Given the description of an element on the screen output the (x, y) to click on. 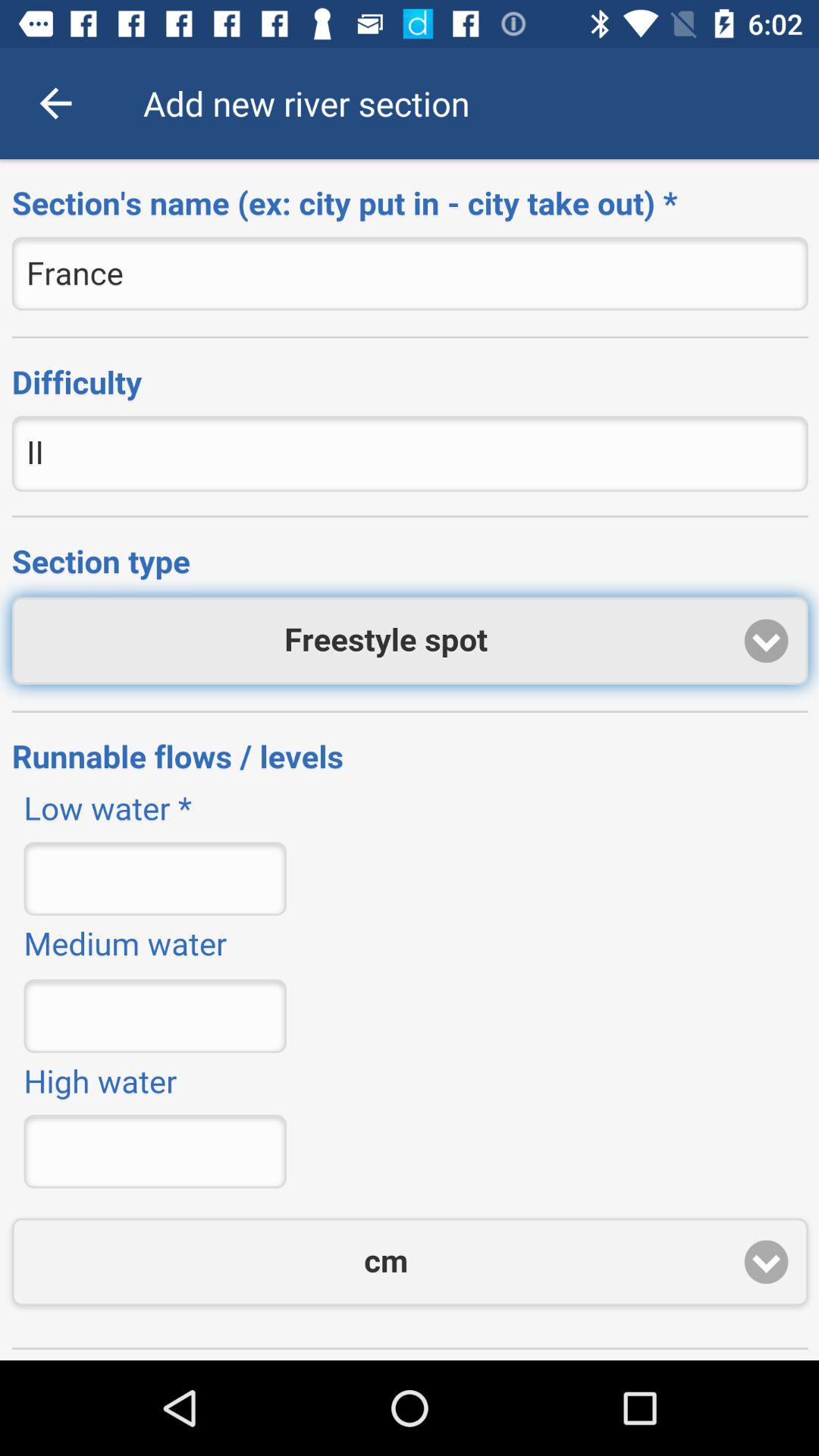
multiple text fields to input data (409, 759)
